Given the description of an element on the screen output the (x, y) to click on. 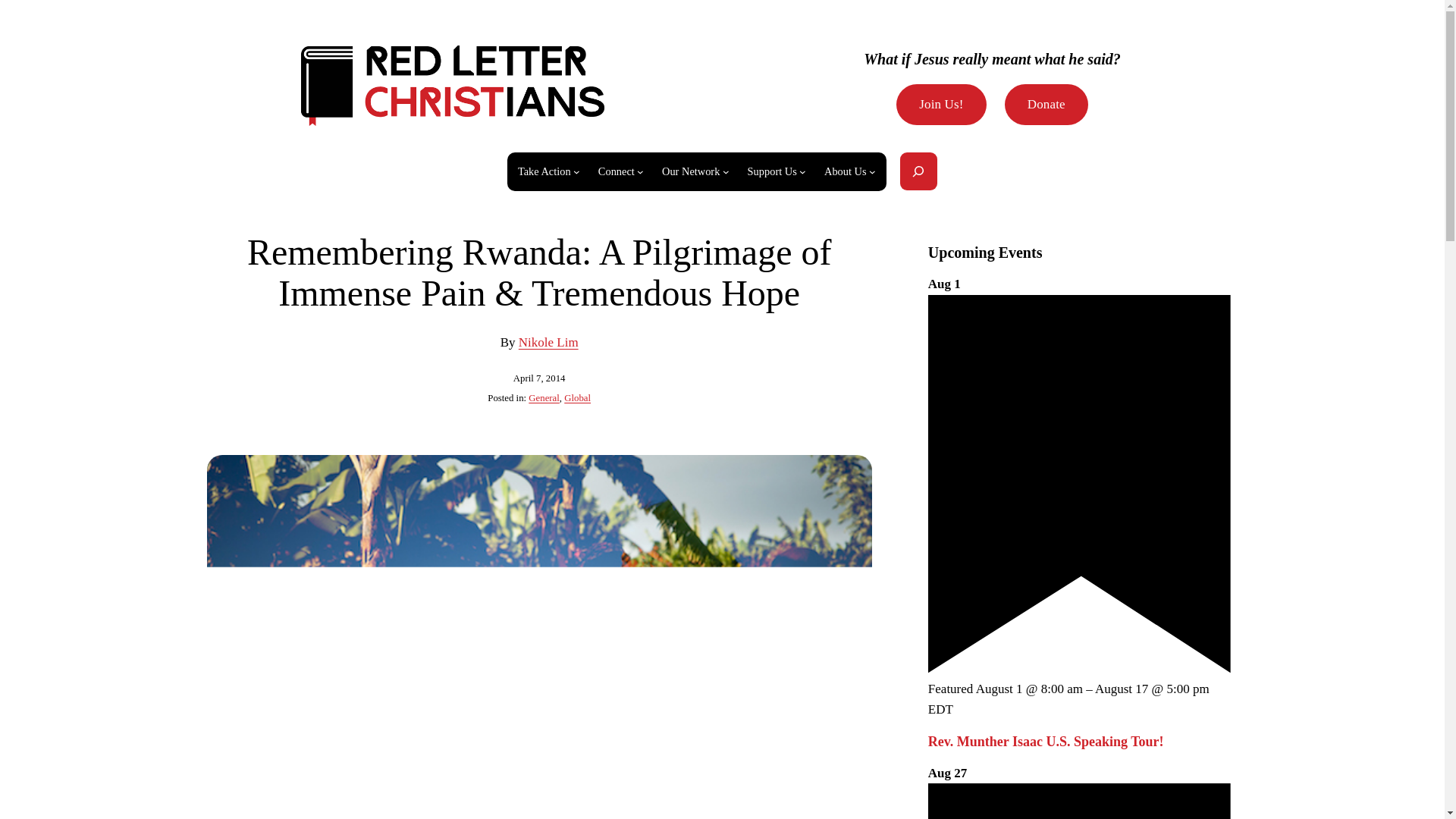
Donate (1045, 104)
Support Us (772, 171)
Rev. Munther Isaac U.S. Speaking Tour! (1045, 741)
Connect (616, 171)
Join Us! (941, 104)
Featured (1079, 667)
Featured (1079, 800)
Take Action (544, 171)
Our Network (690, 171)
